Given the description of an element on the screen output the (x, y) to click on. 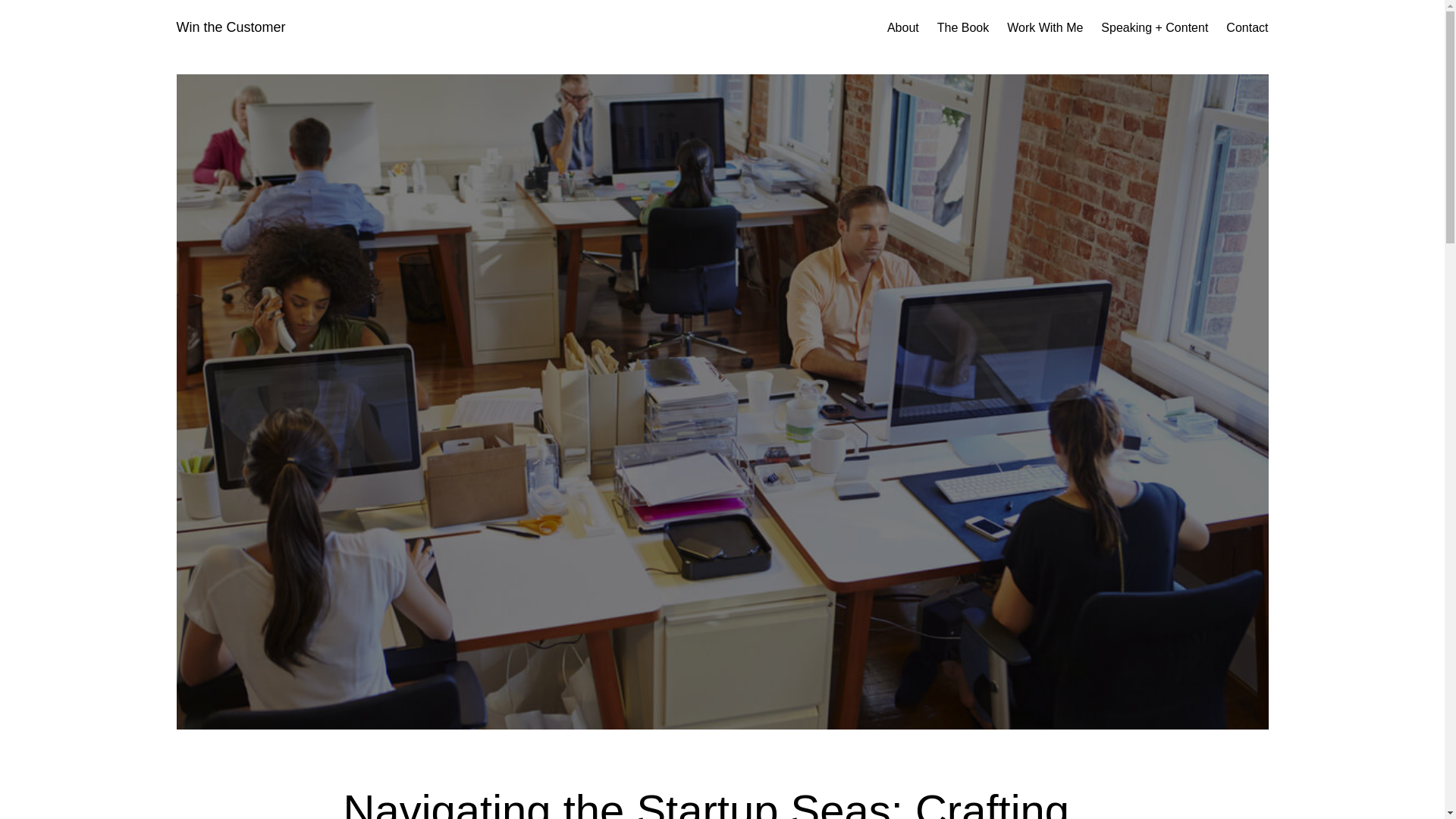
The Book (962, 27)
About (902, 27)
Work With Me (1045, 27)
Win the Customer (230, 27)
Contact (1246, 27)
